Given the description of an element on the screen output the (x, y) to click on. 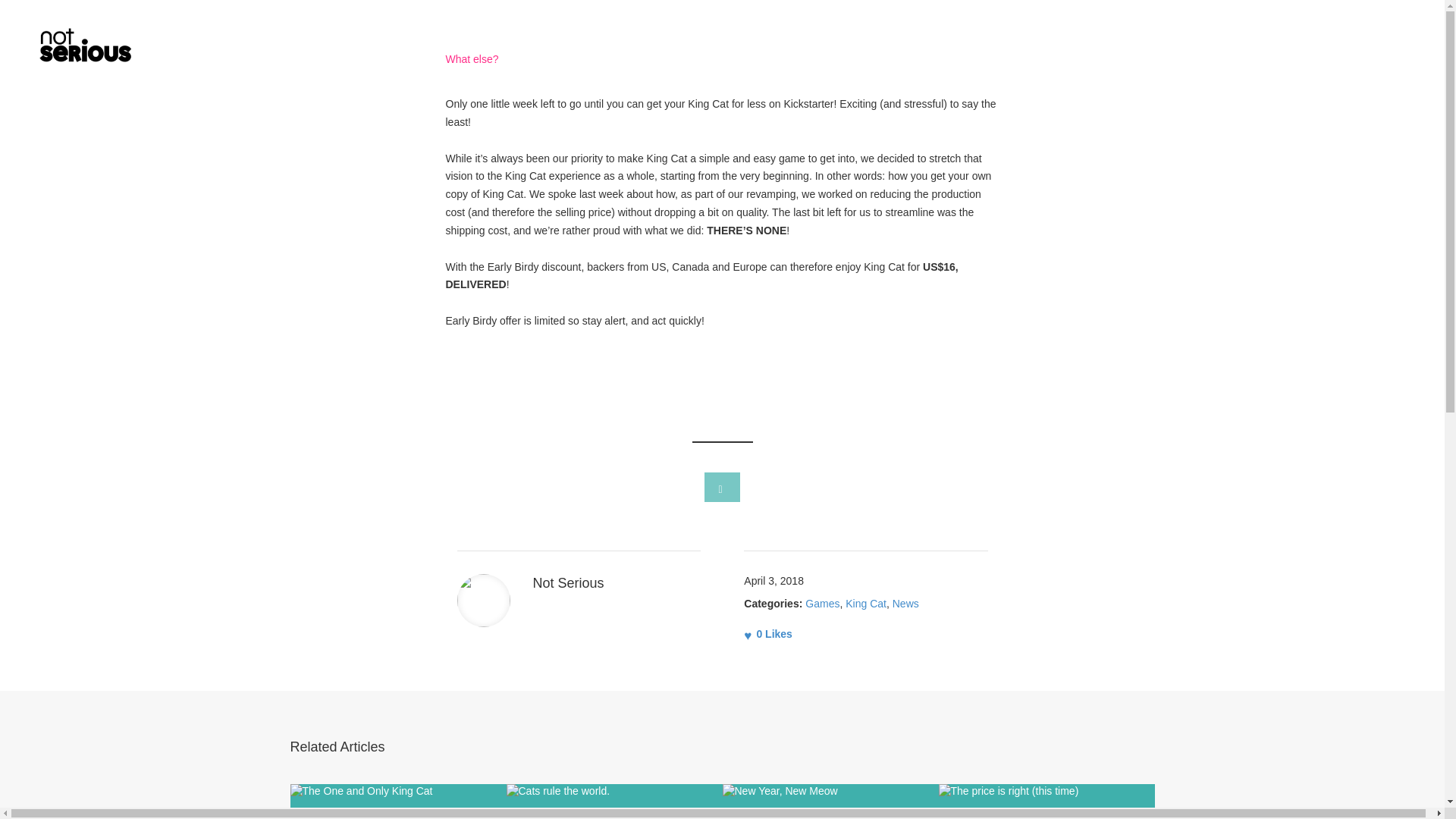
Games (822, 603)
King Cat (865, 603)
News (905, 603)
0 Likes (768, 633)
